Given the description of an element on the screen output the (x, y) to click on. 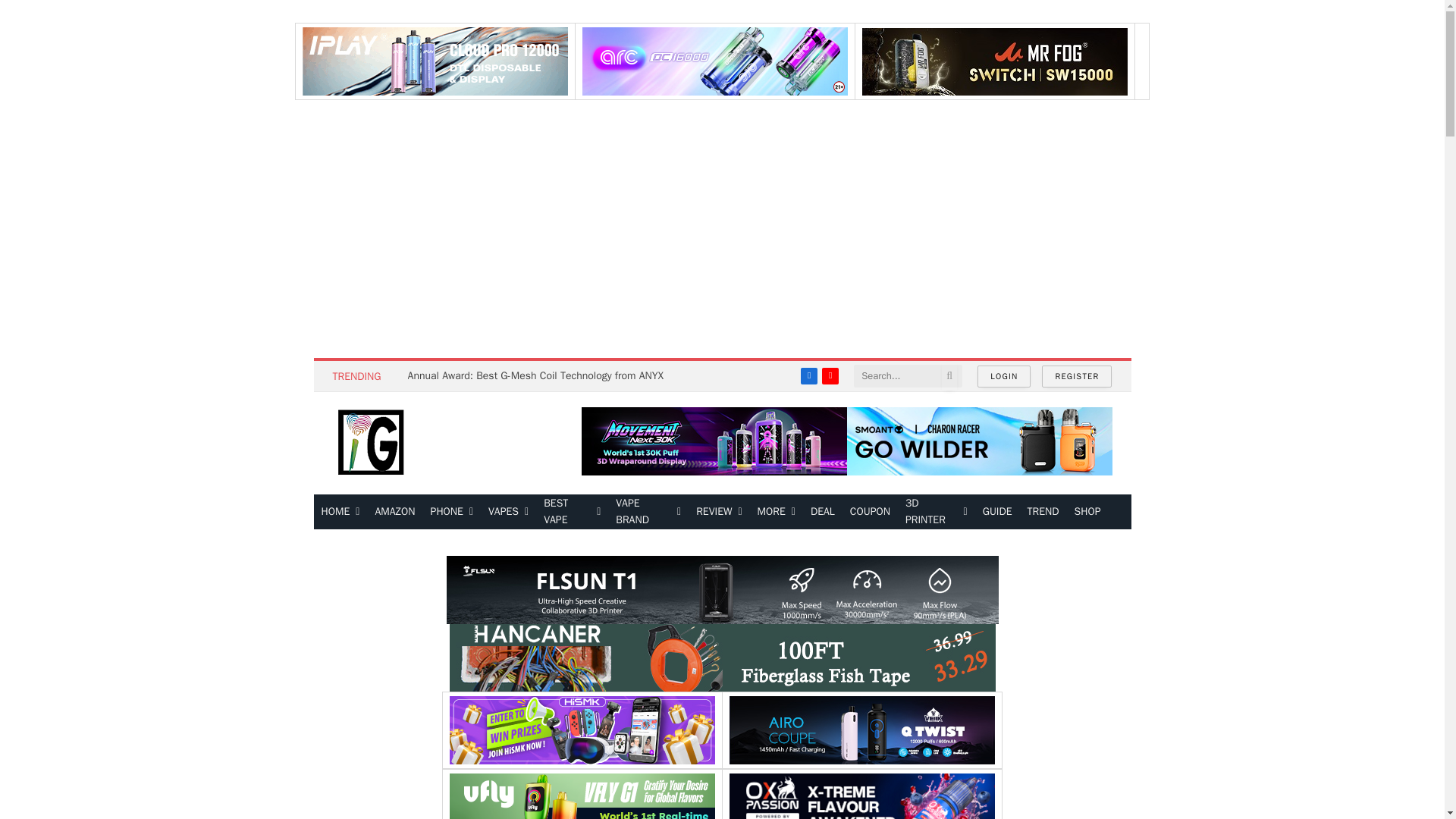
AMAZON (394, 511)
Annual Award: Best G-Mesh Coil Technology from ANYX (539, 376)
YouTube (830, 375)
HOME (341, 511)
REGISTER (1077, 376)
Facebook (808, 375)
PHONE (451, 511)
LOGIN (1003, 376)
